Given the description of an element on the screen output the (x, y) to click on. 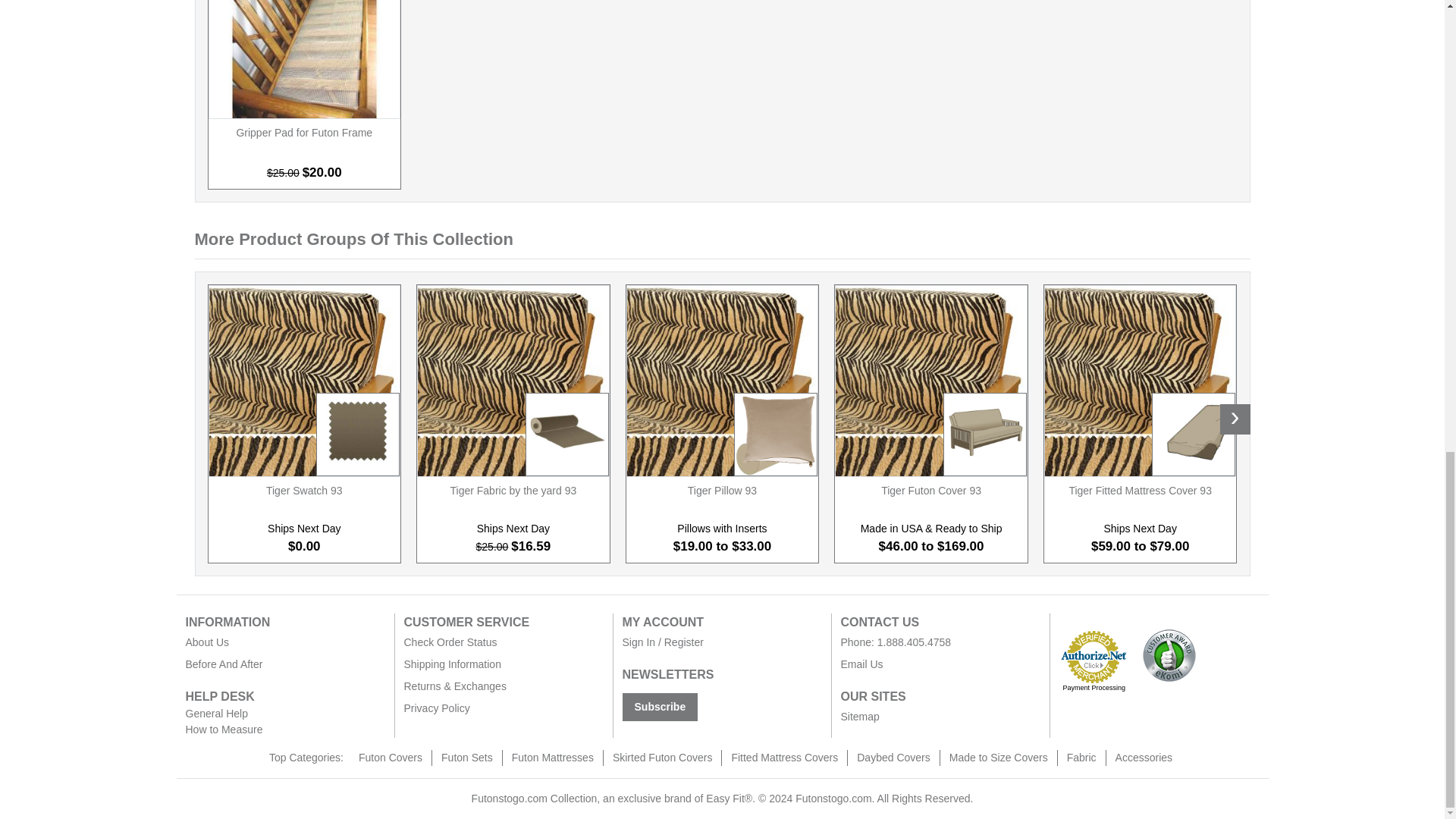
Show details for Tiger Futon Cover 93 (930, 380)
Show details for Tiger Pillow 93 (722, 380)
Show details for Tiger Swatch 93  (304, 380)
Show details for Tiger Fabric by the yard 93  (512, 380)
Show details for Tiger Fitted Mattress Cover 93 (1140, 380)
Show details for Gripper Pad for Futon Frame (304, 59)
